Given the description of an element on the screen output the (x, y) to click on. 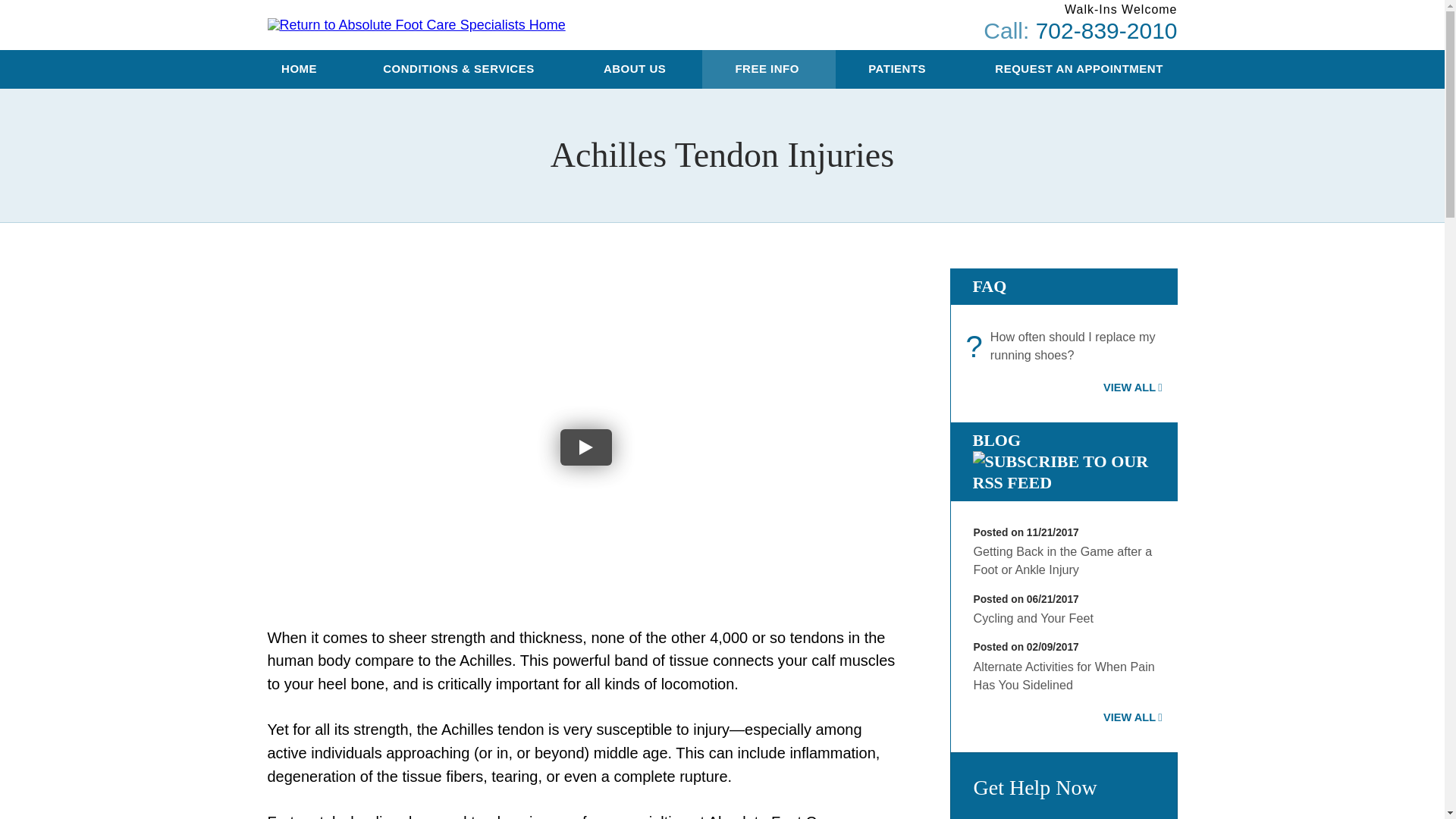
Subscribe to our RSS Feed (1063, 482)
702-839-2010 (1106, 30)
HOME (299, 68)
